Given the description of an element on the screen output the (x, y) to click on. 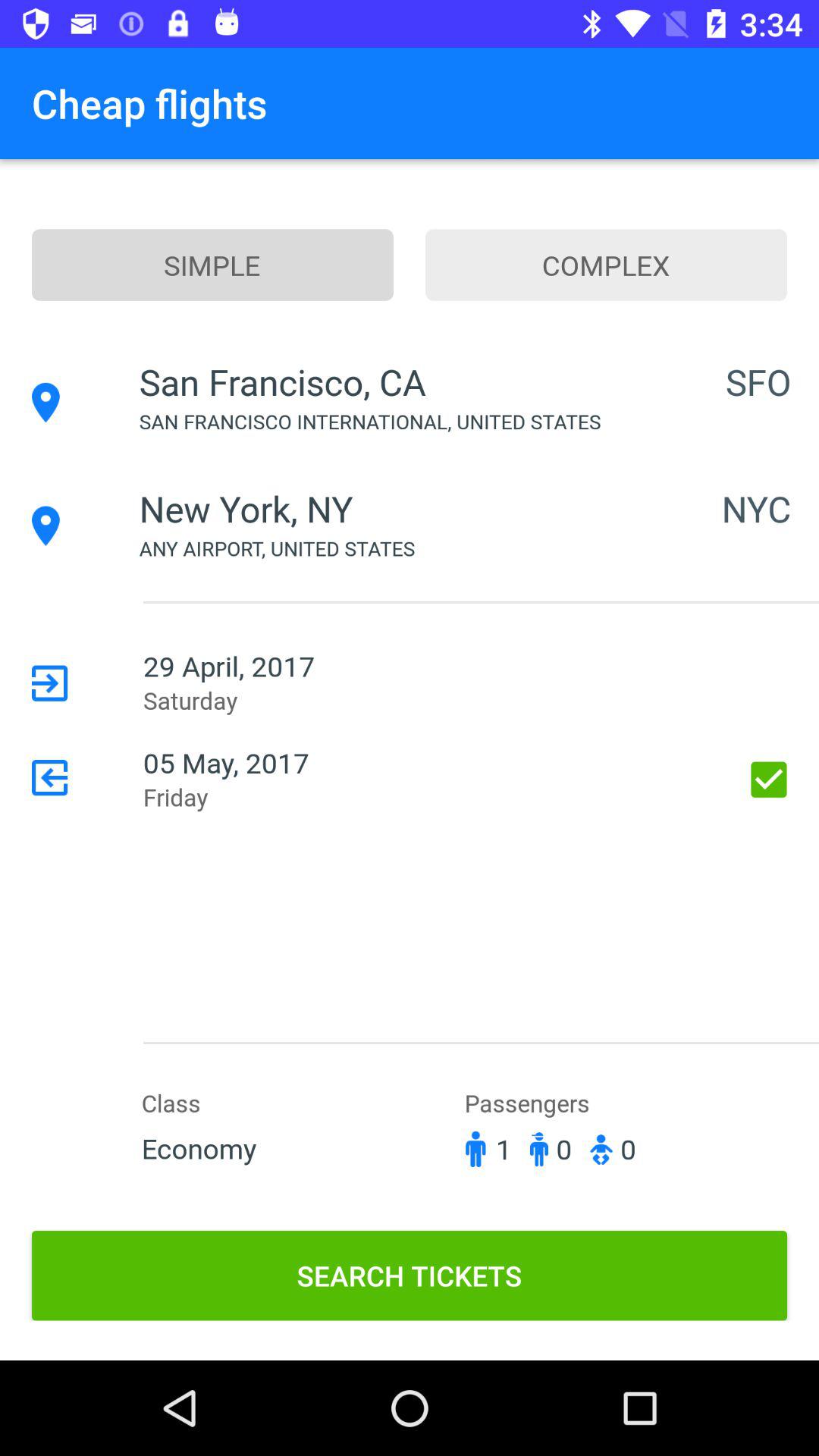
tap the icon to the left of complex icon (212, 264)
